Given the description of an element on the screen output the (x, y) to click on. 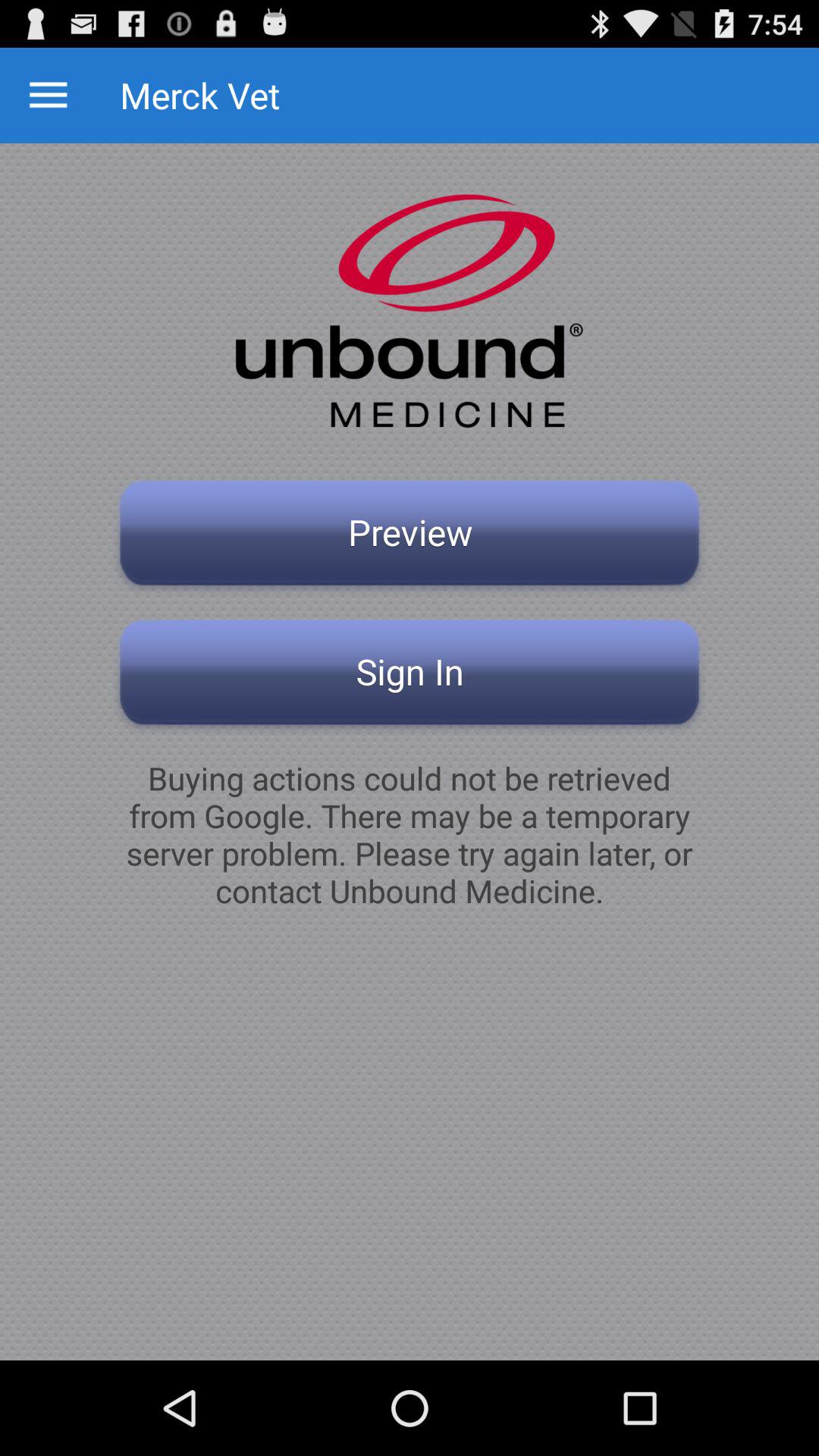
choose the app above buying actions could icon (409, 676)
